Given the description of an element on the screen output the (x, y) to click on. 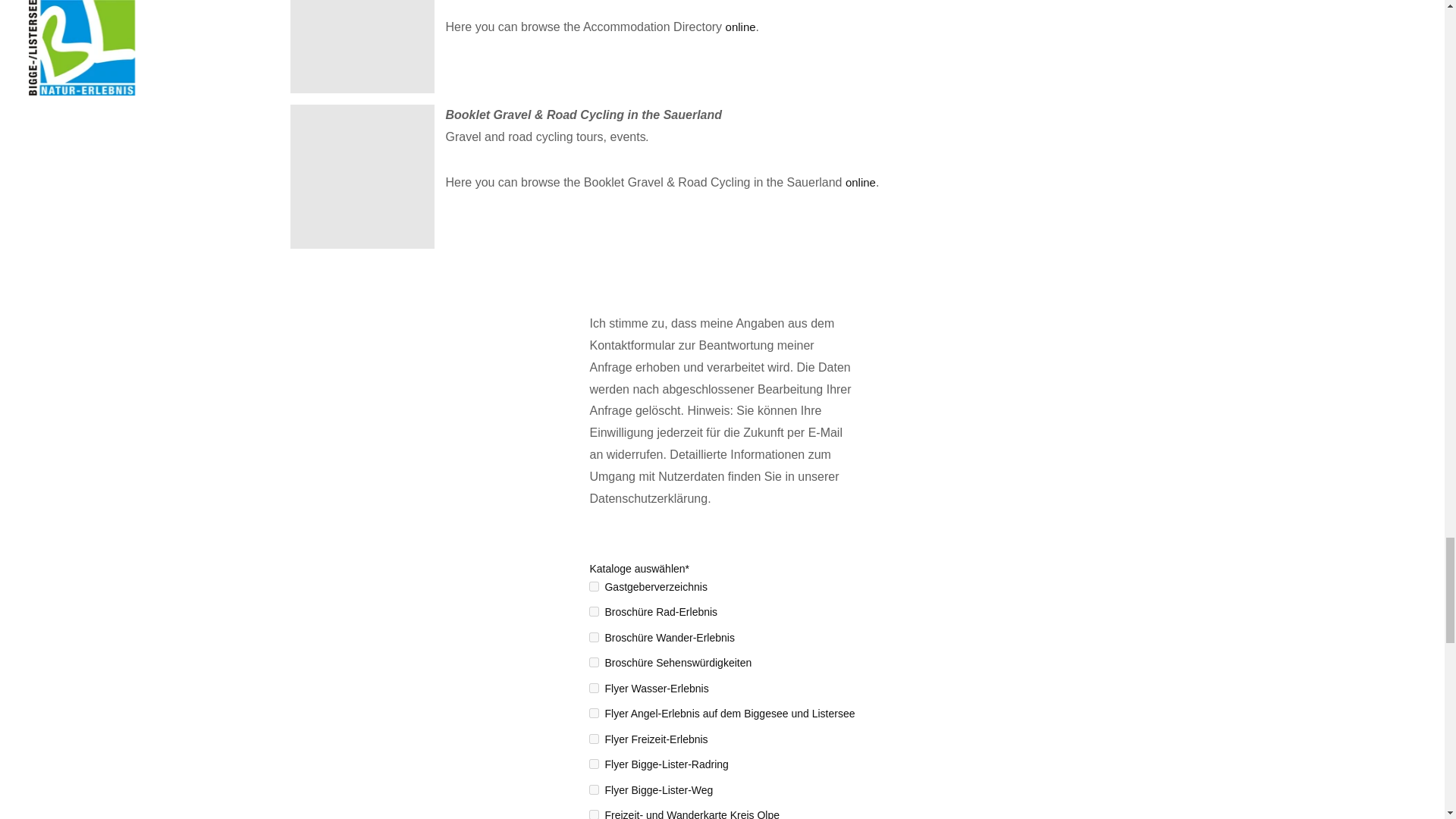
Flyer Bigge-Lister-Weg (593, 789)
Flyer Wasser-Erlebnis (593, 687)
Freizeit- und Wanderkarte Kreis Olpe (593, 814)
Flyer Angel-Erlebnis auf dem Biggesee und Listersee (593, 713)
Flyer Bigge-Lister-Radring (593, 764)
Gastgeberverzeichnis (593, 586)
Flyer Freizeit-Erlebnis (593, 738)
